Given the description of an element on the screen output the (x, y) to click on. 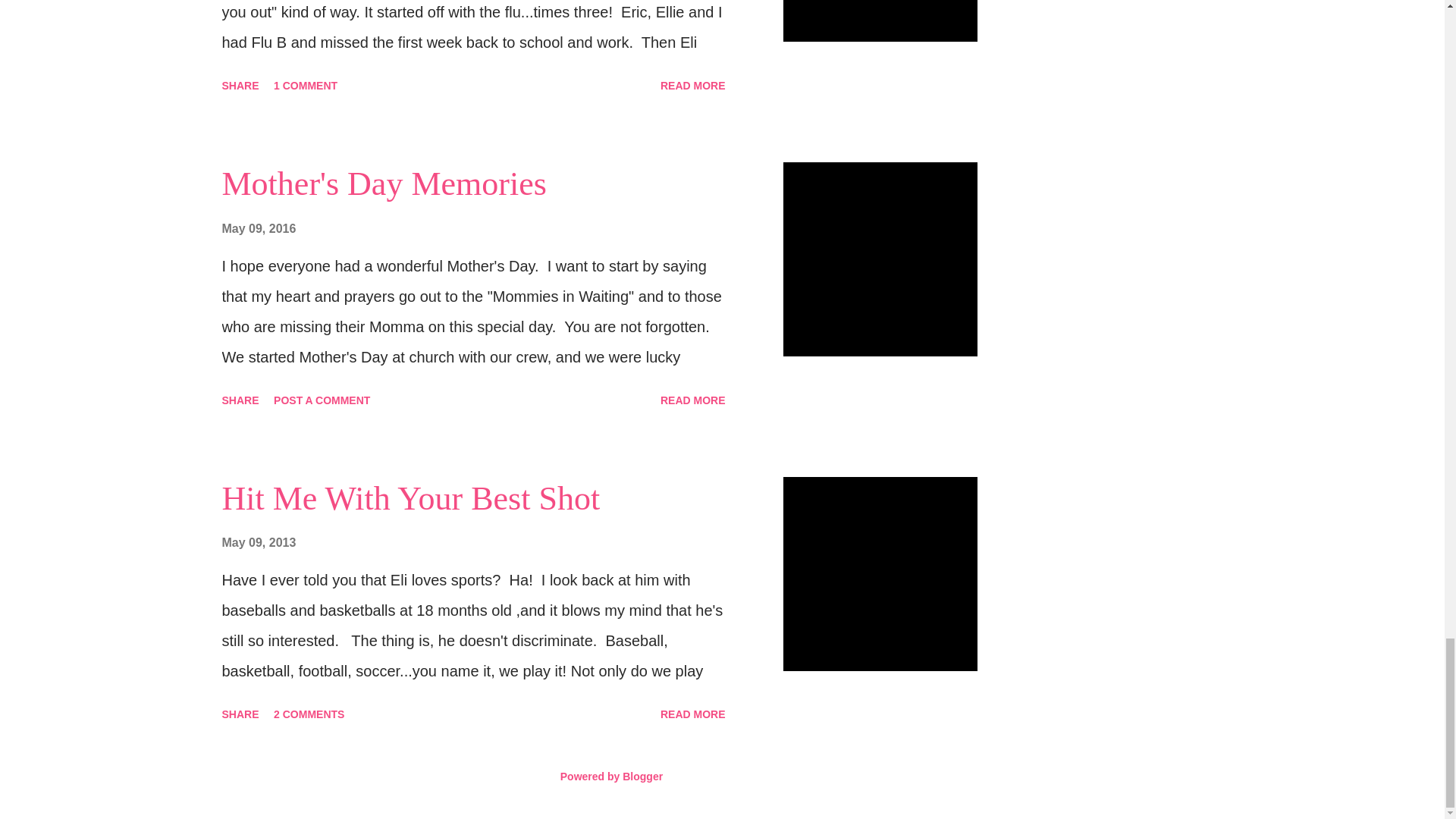
READ MORE (692, 400)
SHARE (239, 400)
Mother's Day Memories (383, 183)
1 COMMENT (305, 85)
POST A COMMENT (321, 400)
May 09, 2013 (258, 542)
2 COMMENTS (308, 713)
READ MORE (692, 713)
SHARE (239, 713)
SHARE (239, 85)
READ MORE (692, 85)
May 09, 2016 (258, 228)
Hit Me With Your Best Shot (410, 497)
